Given the description of an element on the screen output the (x, y) to click on. 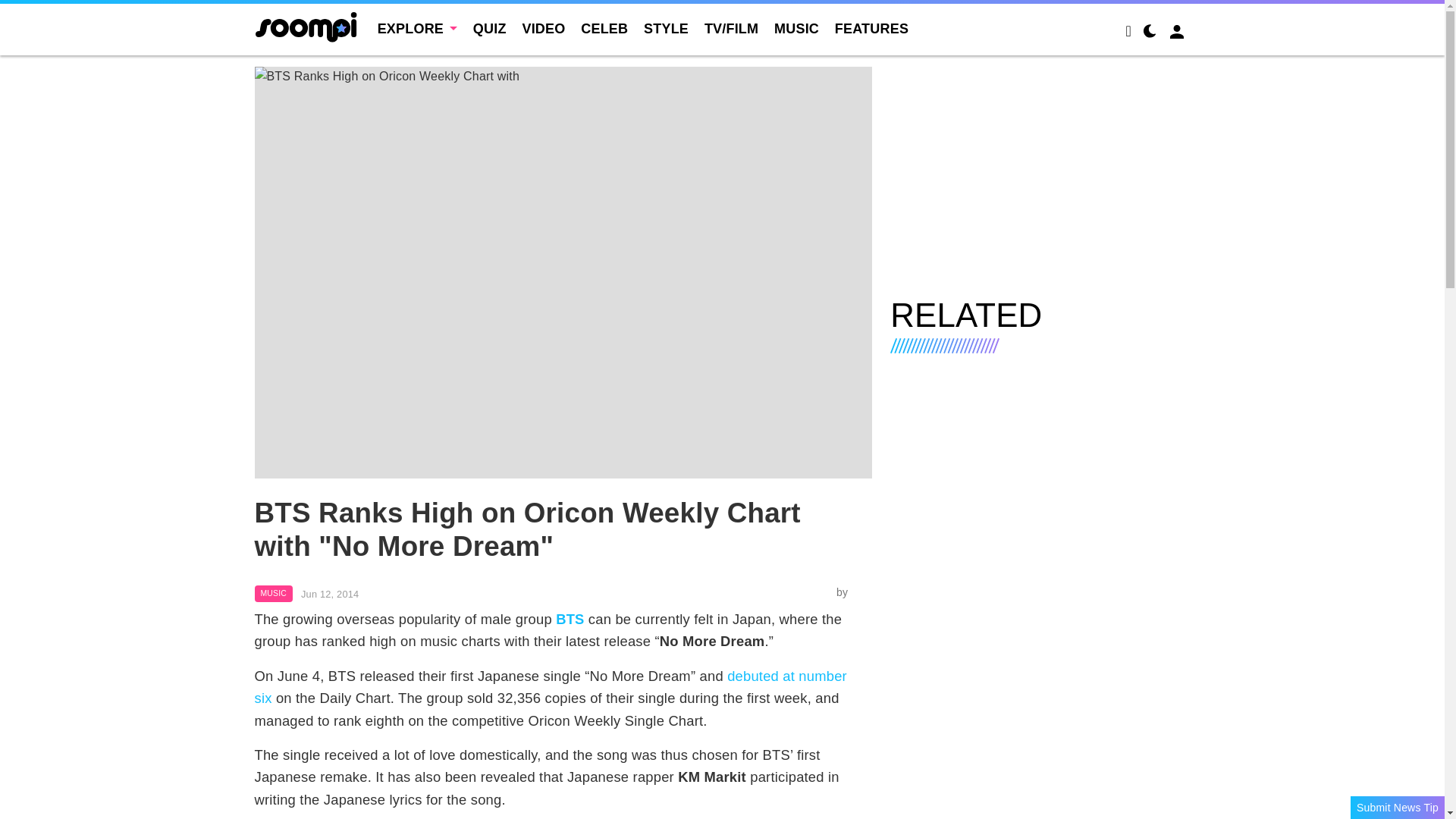
Music (273, 593)
MUSIC (273, 593)
STYLE (665, 28)
FEATURES (871, 28)
QUIZ (489, 28)
CELEB (603, 28)
debuted at number six (550, 686)
MUSIC (796, 28)
EXPLORE (417, 28)
Night Mode Toggle (1149, 33)
VIDEO (542, 28)
BTS (569, 618)
